Given the description of an element on the screen output the (x, y) to click on. 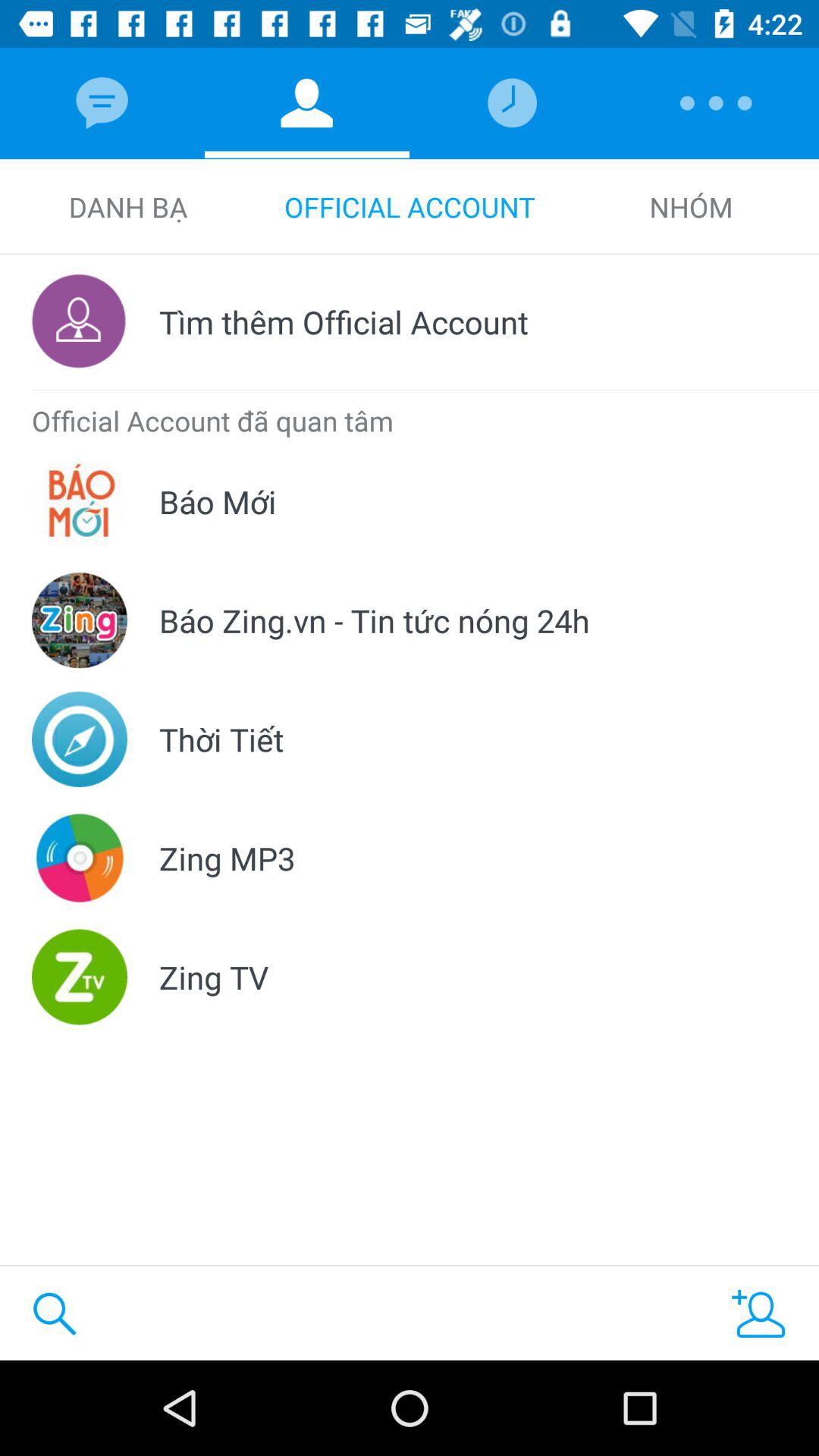
turn off the icon to the left of official account icon (127, 206)
